Given the description of an element on the screen output the (x, y) to click on. 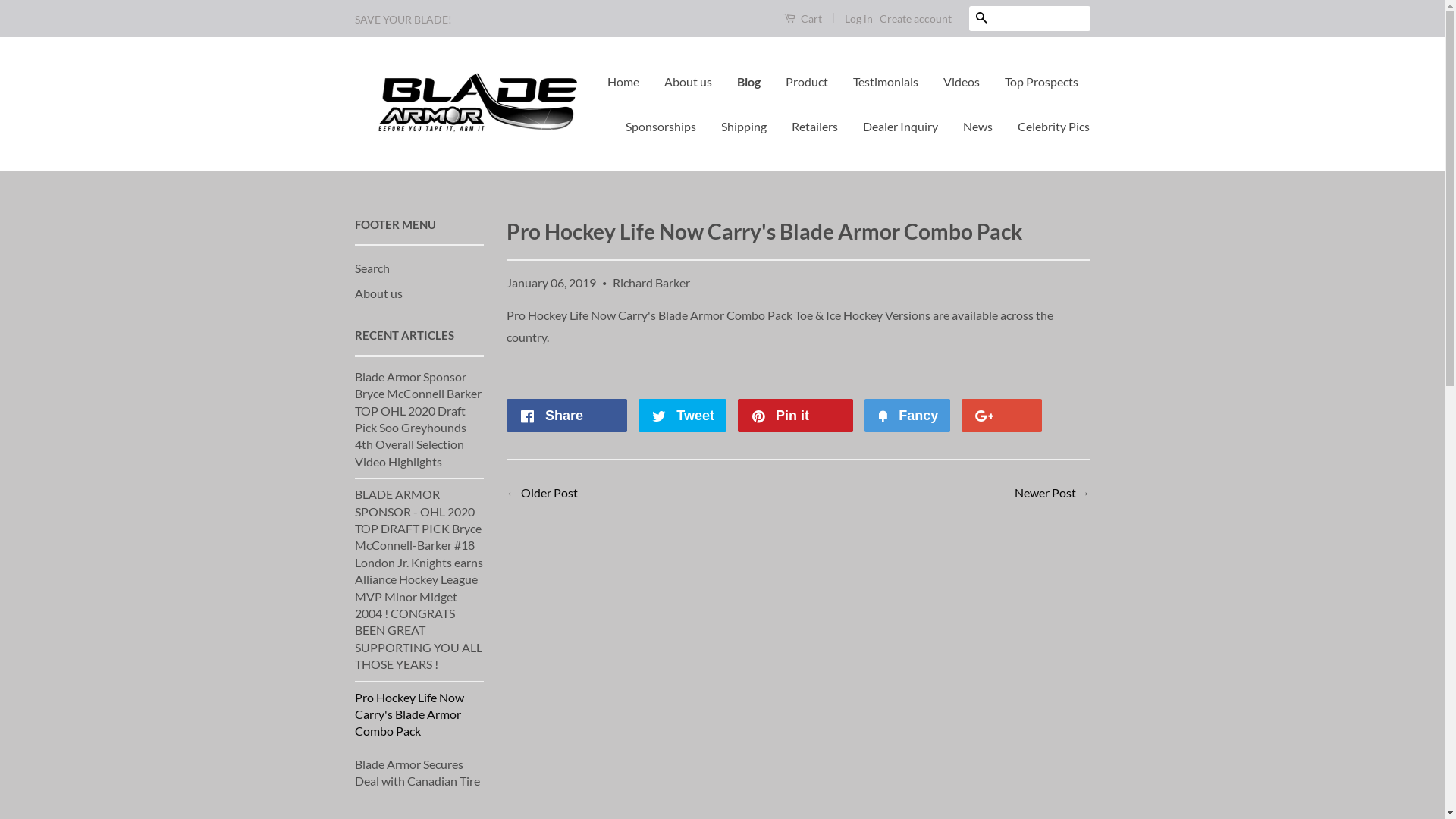
Dealer Inquiry Element type: text (900, 126)
Search Element type: text (981, 18)
News Element type: text (977, 126)
Cart Element type: text (802, 17)
Product Element type: text (806, 81)
Blog Element type: text (748, 81)
Newer Post Element type: text (1045, 492)
Shipping Element type: text (743, 126)
Retailers Element type: text (814, 126)
Create account Element type: text (915, 18)
Testimonials Element type: text (885, 81)
About us Element type: text (378, 292)
Share
Share on Facebook Element type: text (566, 415)
Videos Element type: text (961, 81)
Log in Element type: text (858, 18)
Fancy
Add to Fancy Element type: text (907, 415)
Pin it
Pin on Pinterest Element type: text (795, 415)
+1 on Google Plus Element type: text (1001, 415)
Top Prospects Element type: text (1041, 81)
Home Element type: text (628, 81)
Older Post Element type: text (548, 492)
Search Element type: text (371, 267)
Tweet
Tweet on Twitter Element type: text (682, 415)
Pro Hockey Life Now Carry's Blade Armor Combo Pack Element type: text (409, 714)
Sponsorships Element type: text (660, 126)
About us Element type: text (687, 81)
Blade Armor Secures Deal with Canadian Tire Element type: text (417, 771)
Celebrity Pics Element type: text (1047, 126)
